Given the description of an element on the screen output the (x, y) to click on. 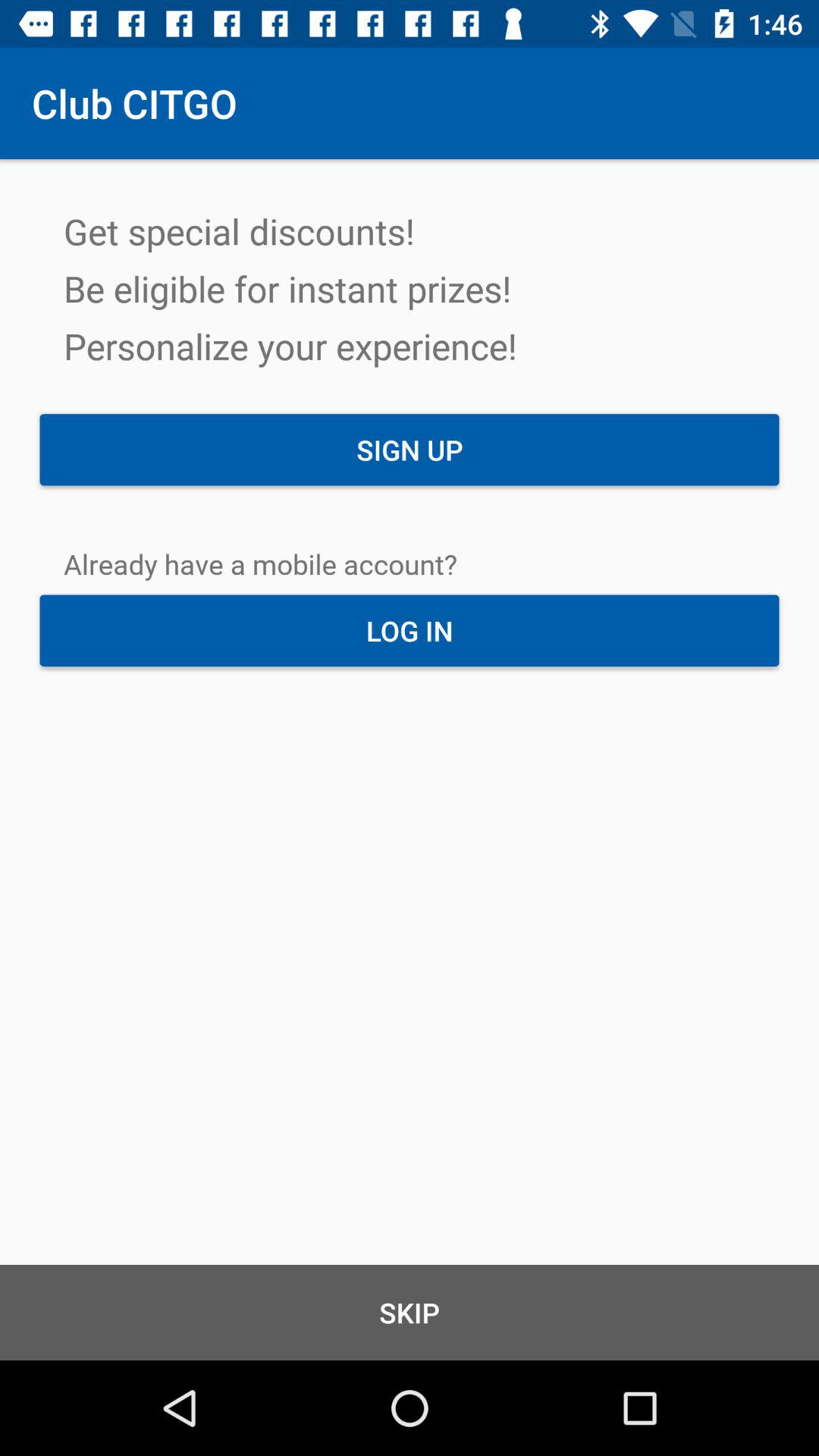
open the item above the already have a item (409, 449)
